Given the description of an element on the screen output the (x, y) to click on. 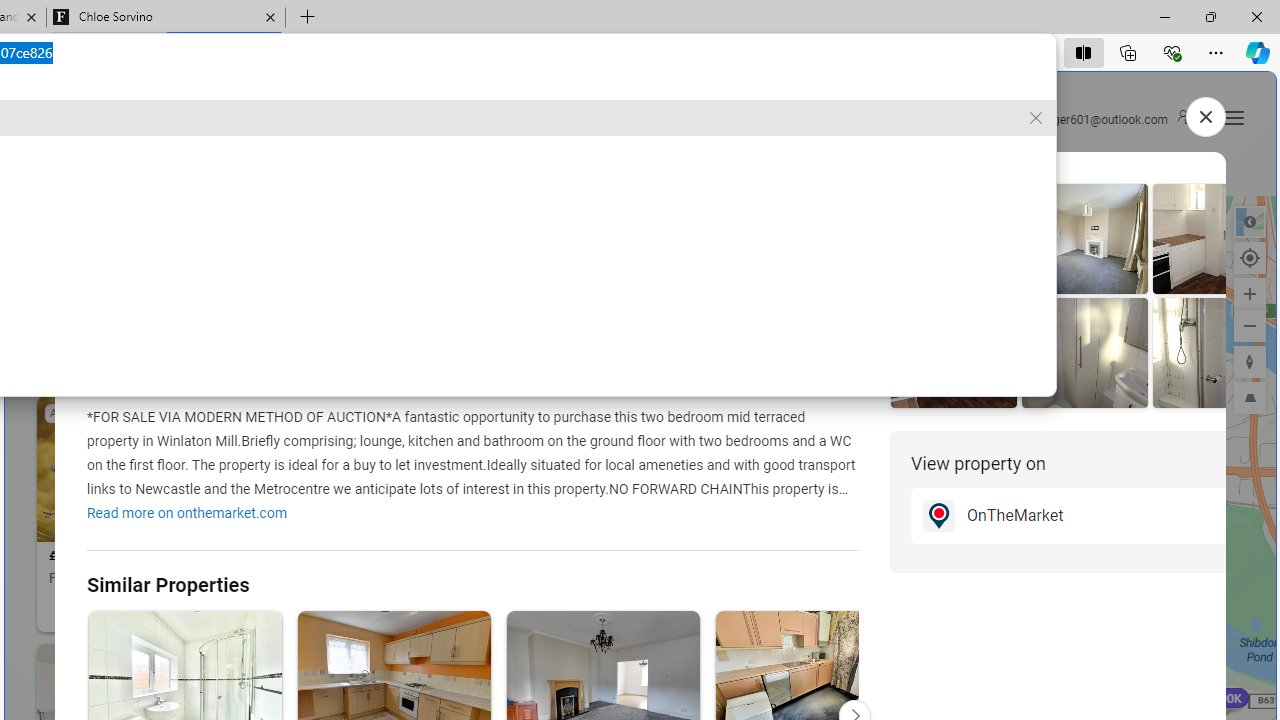
Chloe Sorvino (166, 17)
Remove suggestion (1036, 117)
